Given the description of an element on the screen output the (x, y) to click on. 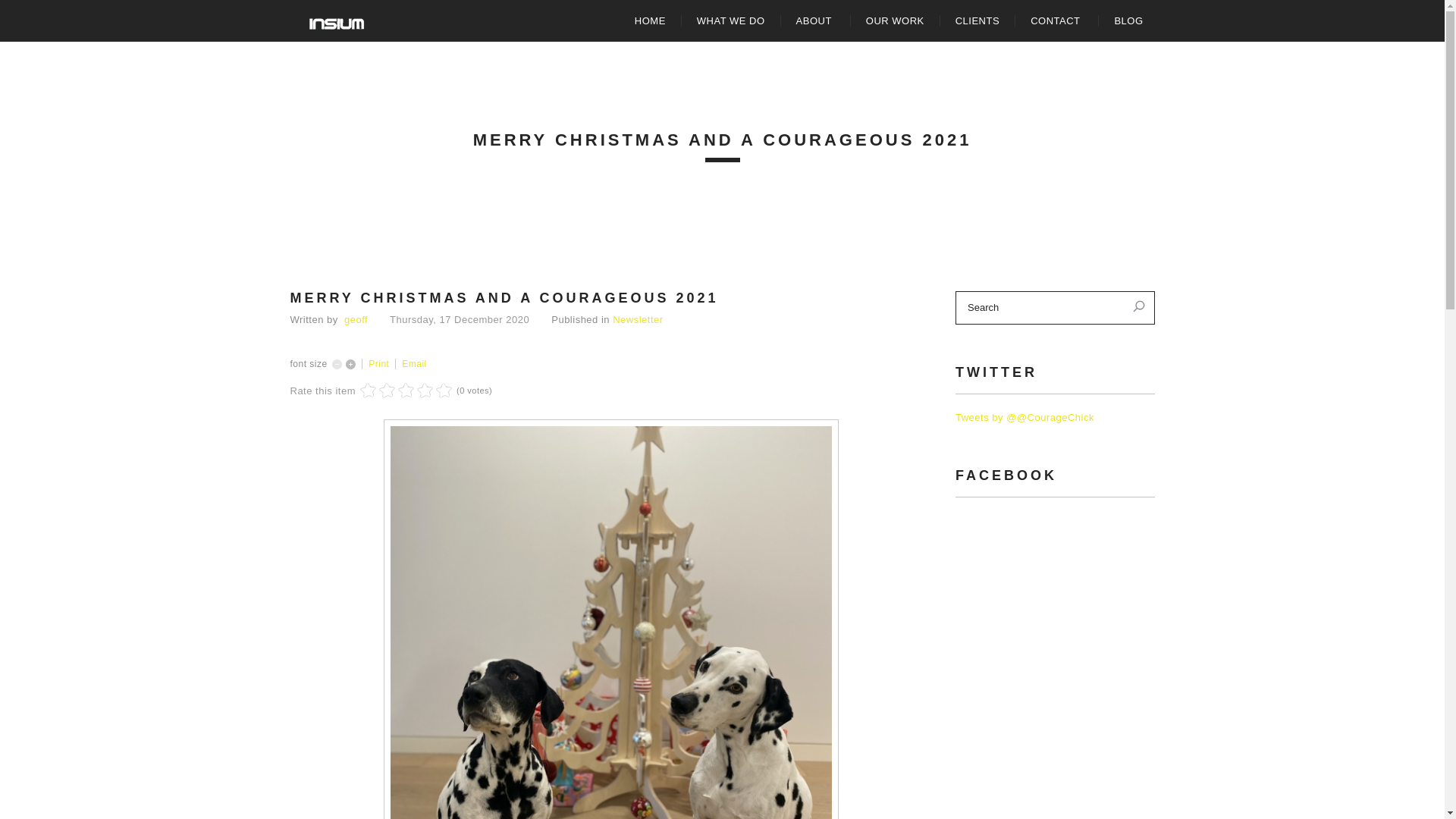
geoff Element type: text (355, 319)
ABOUT Element type: text (815, 20)
Newsletter Element type: text (637, 319)
HOME Element type: text (649, 20)
BLOG Element type: text (1127, 20)
3 Element type: text (386, 390)
4 Element type: text (396, 390)
WHAT WE DO Element type: text (730, 20)
2 Element type: text (377, 390)
1 Element type: text (367, 390)
OUR WORK Element type: text (895, 20)
5 Element type: text (405, 390)
Print Element type: text (380, 363)
Email Element type: text (413, 363)
CLIENTS Element type: text (977, 20)
CONTACT Element type: text (1056, 20)
Click to preview image Element type: hover (610, 718)
Tweets by @@CourageChick Element type: text (1024, 417)
